Given the description of an element on the screen output the (x, y) to click on. 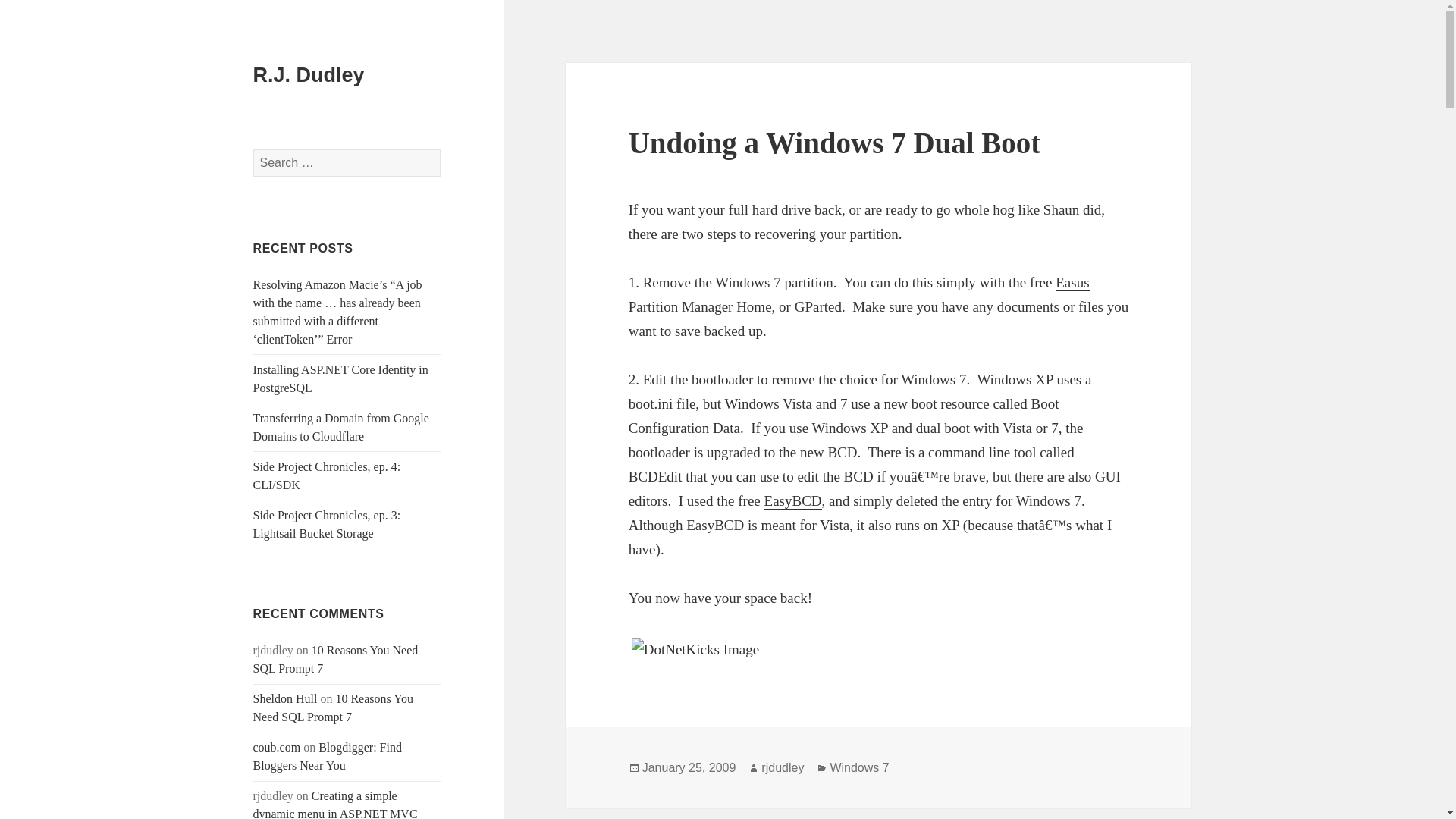
10 Reasons You Need SQL Prompt 7 (336, 658)
Side Project Chronicles, ep. 3: Lightsail Bucket Storage (327, 523)
coub.com (277, 747)
Sheldon Hull (285, 698)
Creating a simple dynamic menu in ASP.NET MVC (335, 804)
10 Reasons You Need SQL Prompt 7 (333, 707)
R.J. Dudley (309, 74)
Blogdigger: Find Bloggers Near You (327, 756)
Transferring a Domain from Google Domains to Cloudflare (341, 427)
Installing ASP.NET Core Identity in PostgreSQL (340, 378)
